Given the description of an element on the screen output the (x, y) to click on. 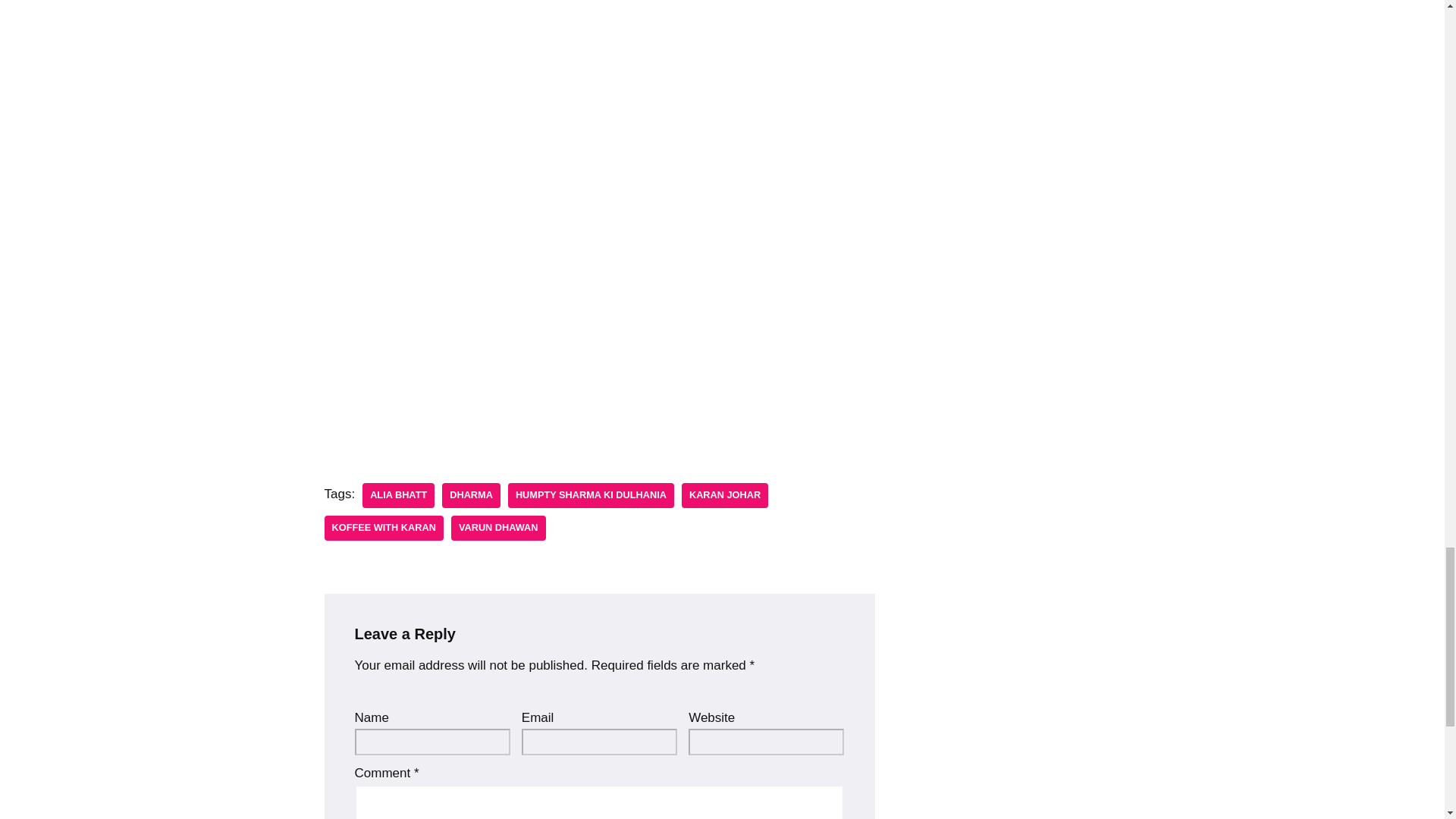
ALIA BHATT (397, 495)
DHARMA (471, 495)
Karan Johar (724, 495)
Humpty Sharma Ki Dulhania (591, 495)
Dharma (471, 495)
Alia Bhatt (397, 495)
KARAN JOHAR (724, 495)
Koffee with Karan (384, 527)
VARUN DHAWAN (498, 527)
KOFFEE WITH KARAN (384, 527)
